Given the description of an element on the screen output the (x, y) to click on. 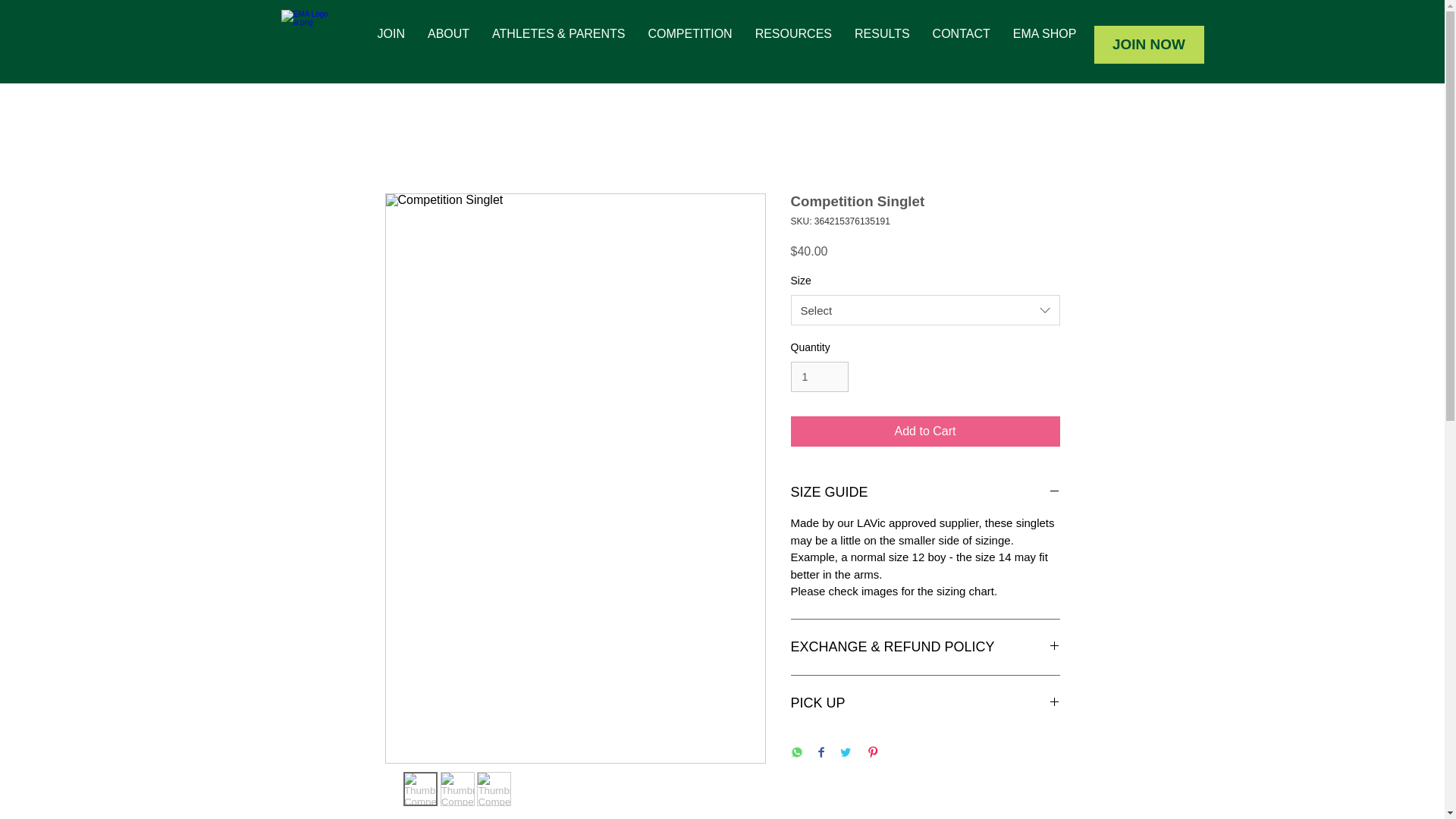
CONTACT (961, 44)
RESULTS (882, 44)
JOIN NOW (1148, 44)
EMA SHOP (1044, 44)
1 (818, 377)
JOIN (389, 44)
